Given the description of an element on the screen output the (x, y) to click on. 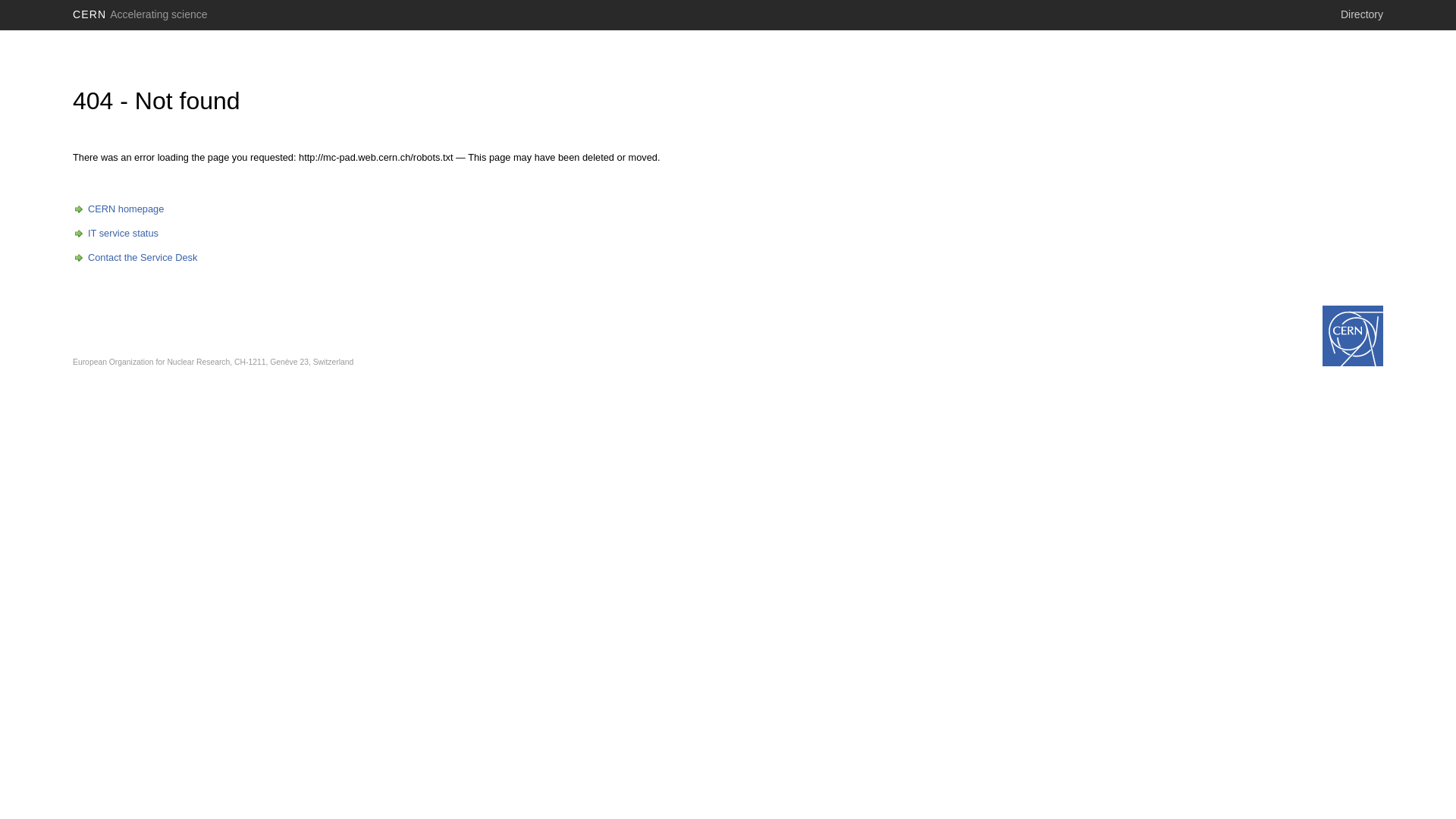
Contact the Service Desk Element type: text (134, 257)
Directory Element type: text (1361, 14)
CERN homepage Element type: text (117, 208)
CERN Accelerating science Element type: text (139, 14)
IT service status Element type: text (115, 232)
www.cern.ch Element type: hover (1352, 335)
